Given the description of an element on the screen output the (x, y) to click on. 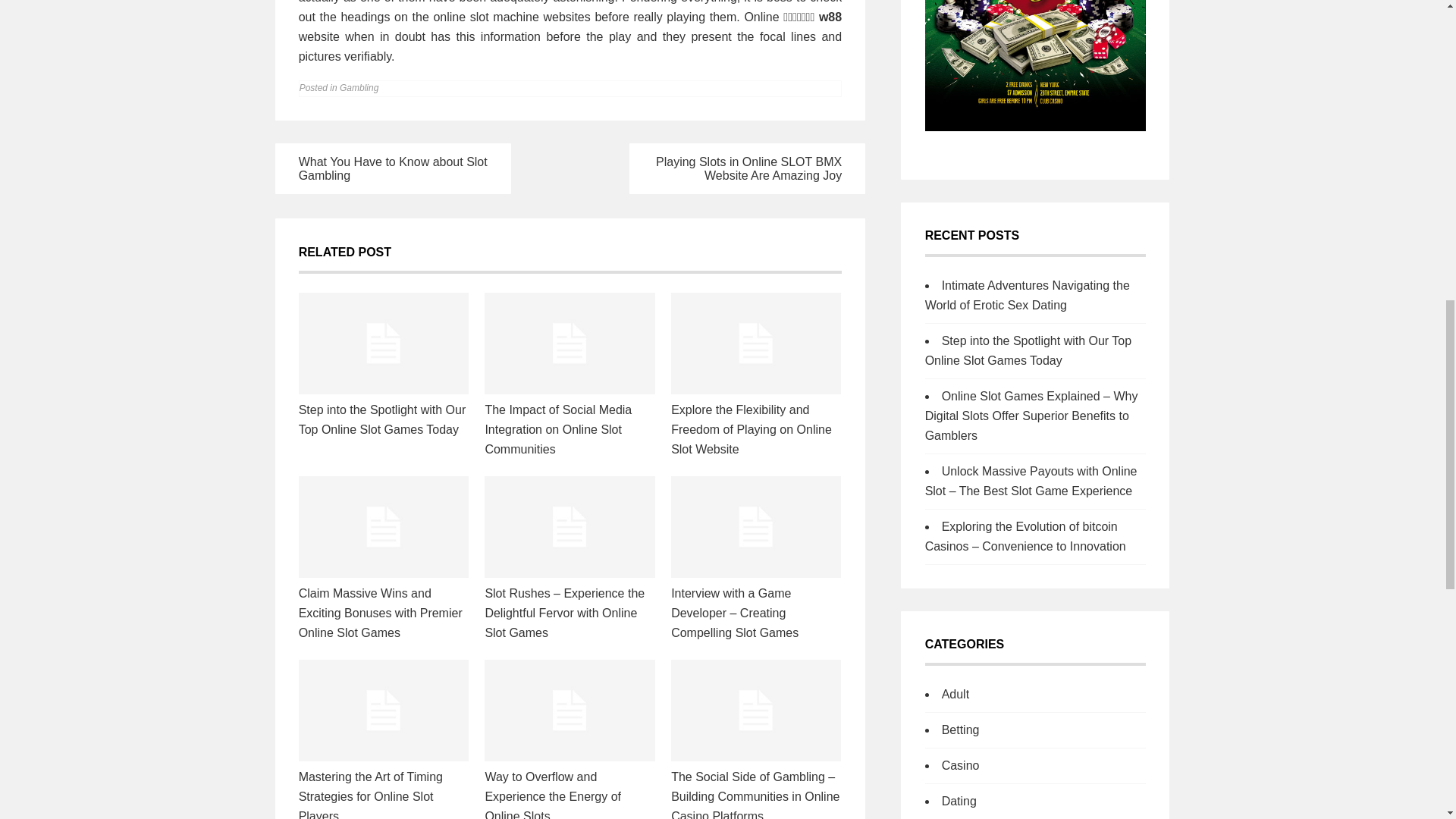
Gambling (358, 87)
Step into the Spotlight with Our Top Online Slot Games Today (381, 419)
Playing Slots in Online SLOT BMX Website Are Amazing Joy (748, 168)
What You Have to Know about Slot Gambling (392, 168)
Way to Overflow and Experience the Energy of Online Slots (552, 794)
